Given the description of an element on the screen output the (x, y) to click on. 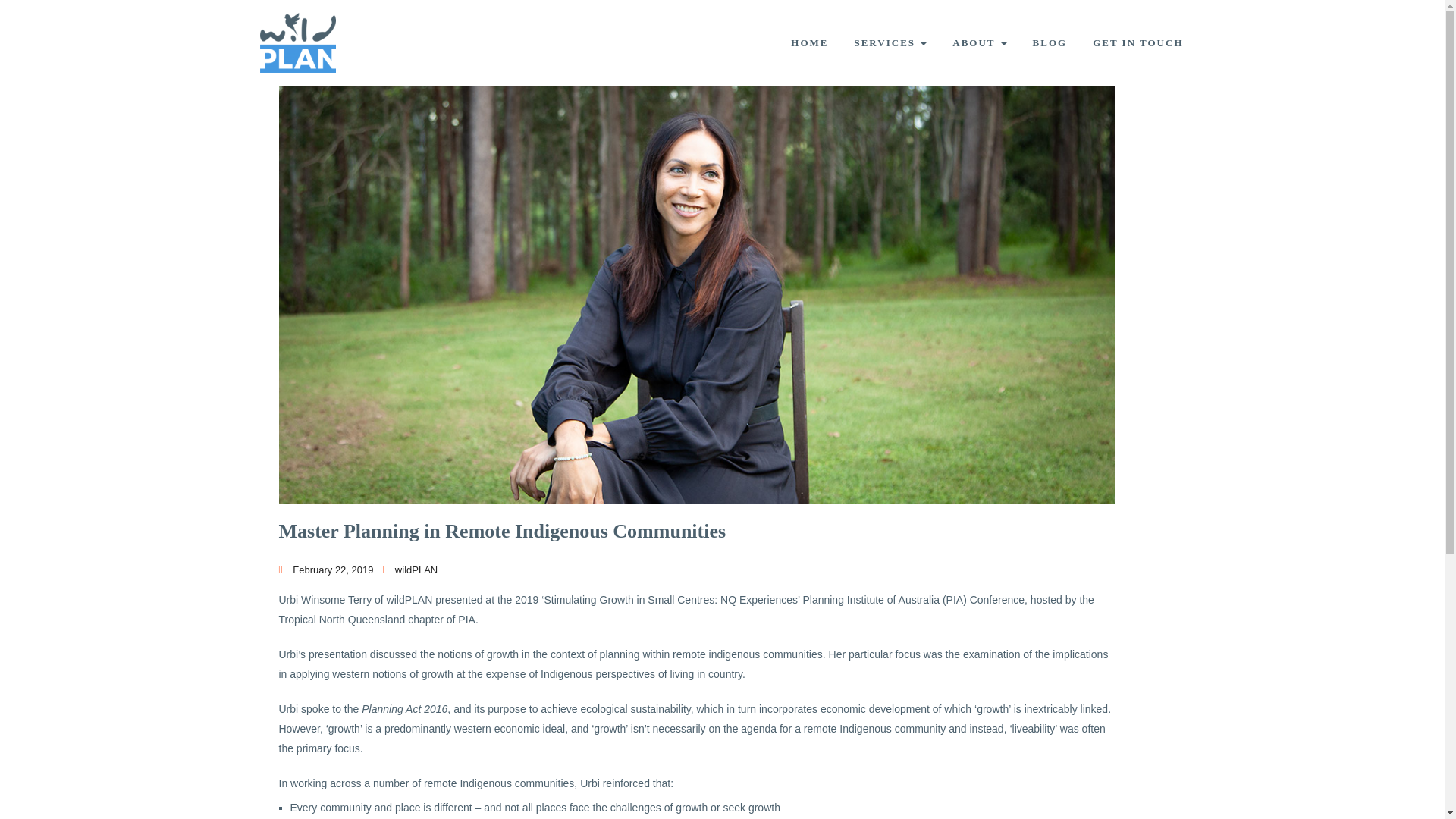
SERVICES (890, 42)
HOME (809, 42)
HOME (809, 42)
SERVICES (890, 42)
ABOUT (978, 42)
